Given the description of an element on the screen output the (x, y) to click on. 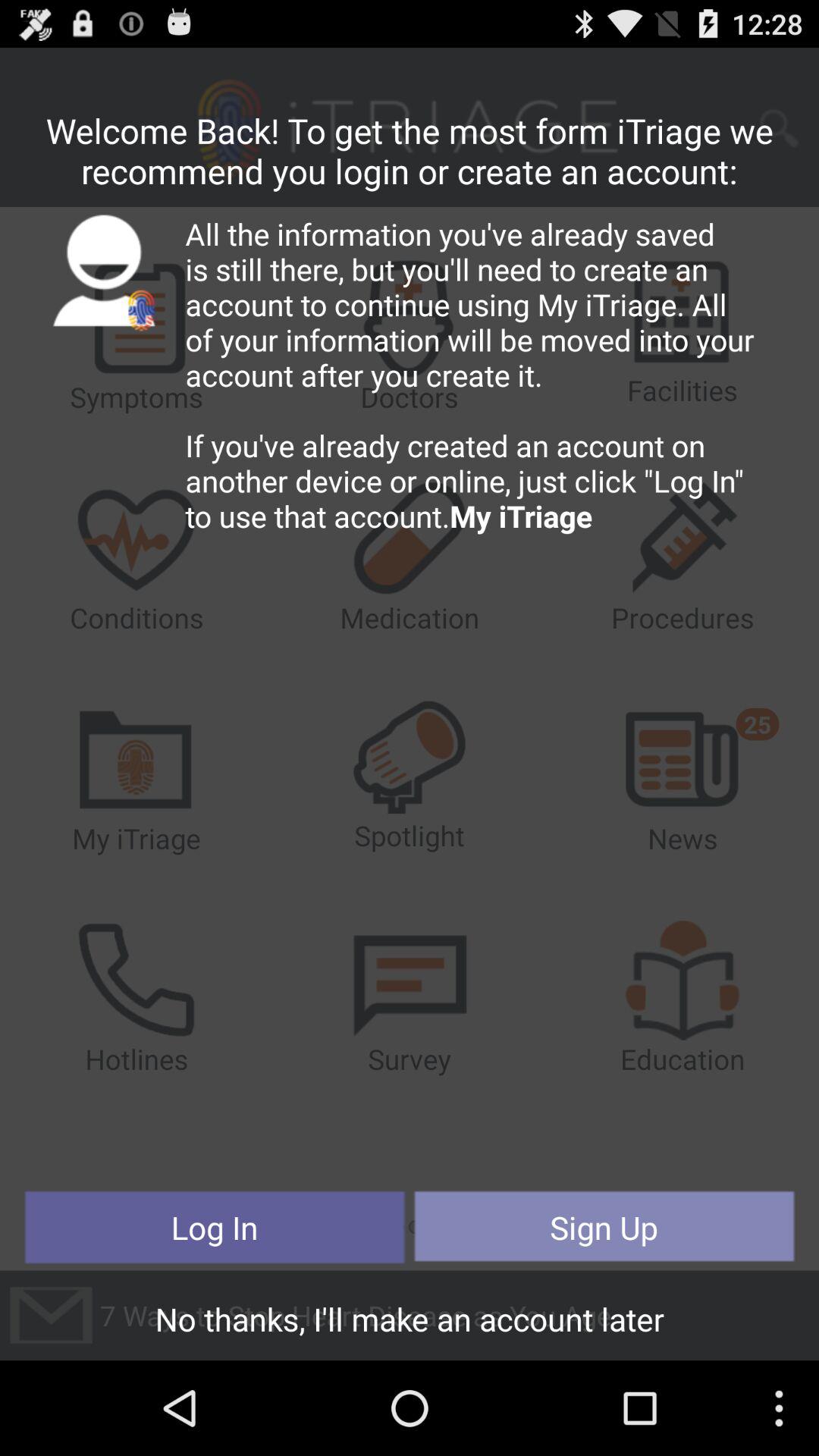
flip until the log in (214, 1227)
